Given the description of an element on the screen output the (x, y) to click on. 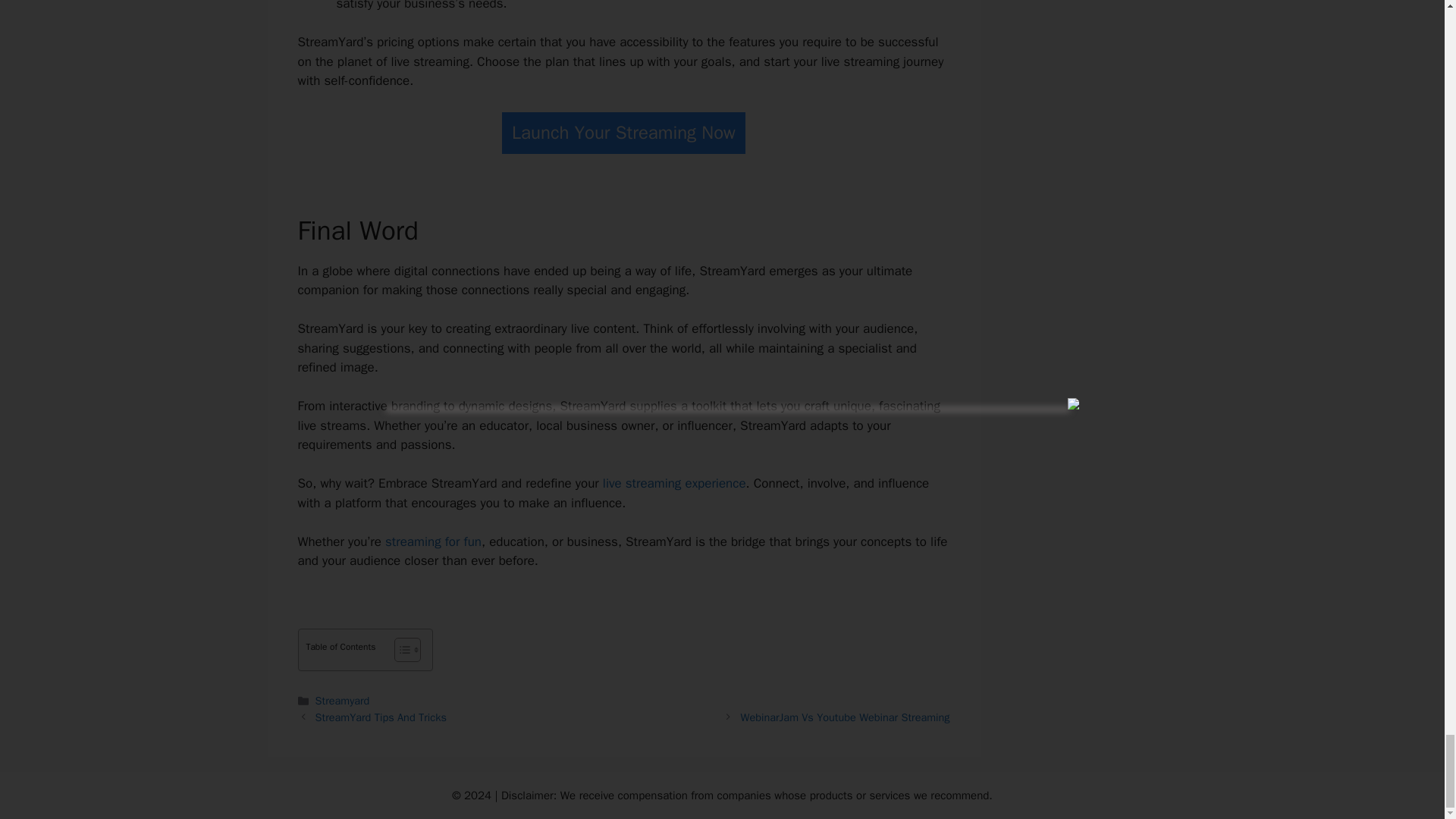
live streaming experience (673, 483)
Streamyard (342, 700)
StreamYard Tips And Tricks (380, 716)
streaming for fun (433, 541)
WebinarJam Vs Youtube Webinar Streaming (845, 716)
Launch Your Streaming Now (623, 132)
